Given the description of an element on the screen output the (x, y) to click on. 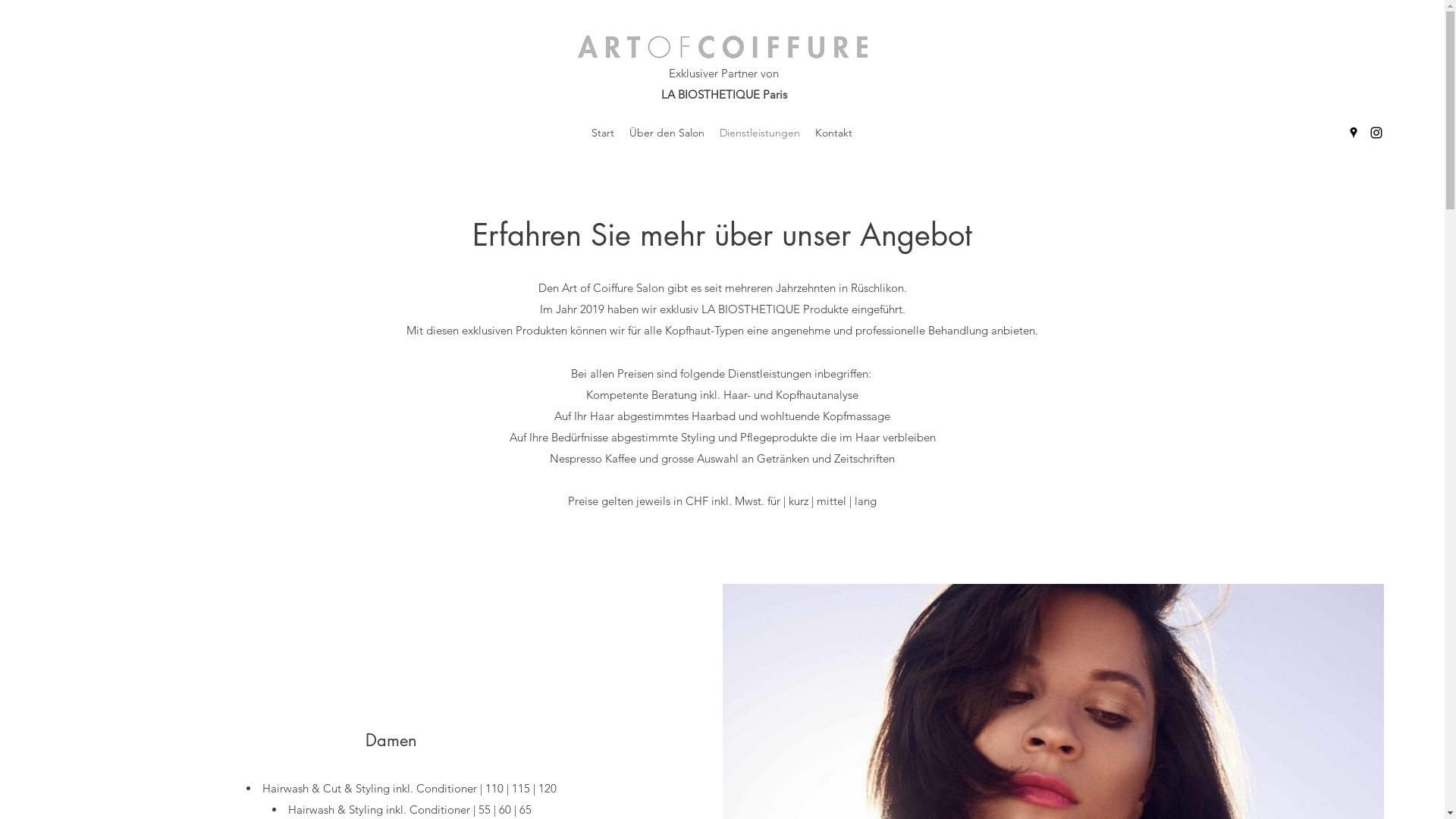
Kontakt Element type: text (833, 132)
Start Element type: text (602, 132)
Dienstleistungen Element type: text (759, 132)
